Given the description of an element on the screen output the (x, y) to click on. 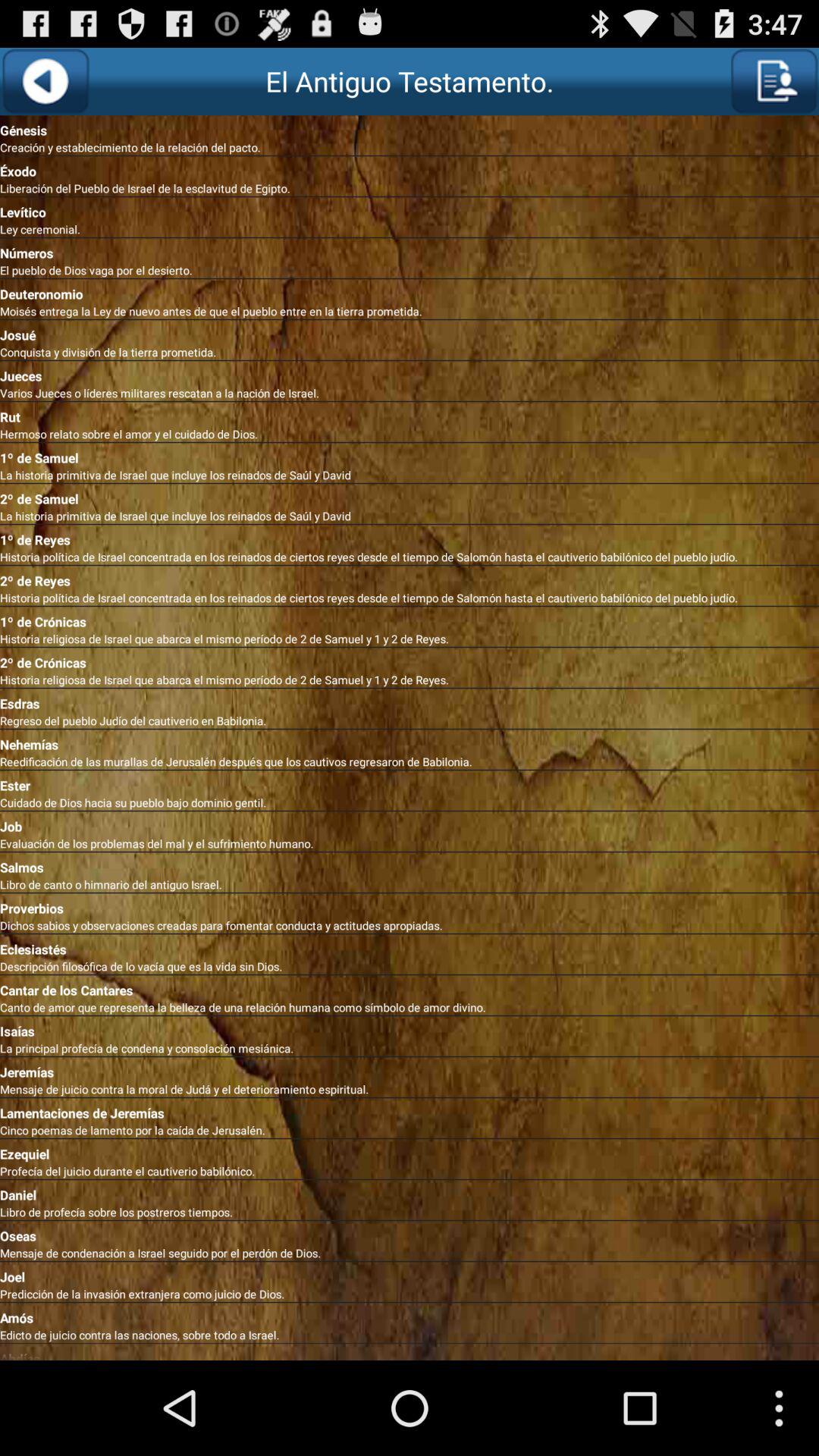
press item above the hermoso relato sobre item (409, 413)
